Given the description of an element on the screen output the (x, y) to click on. 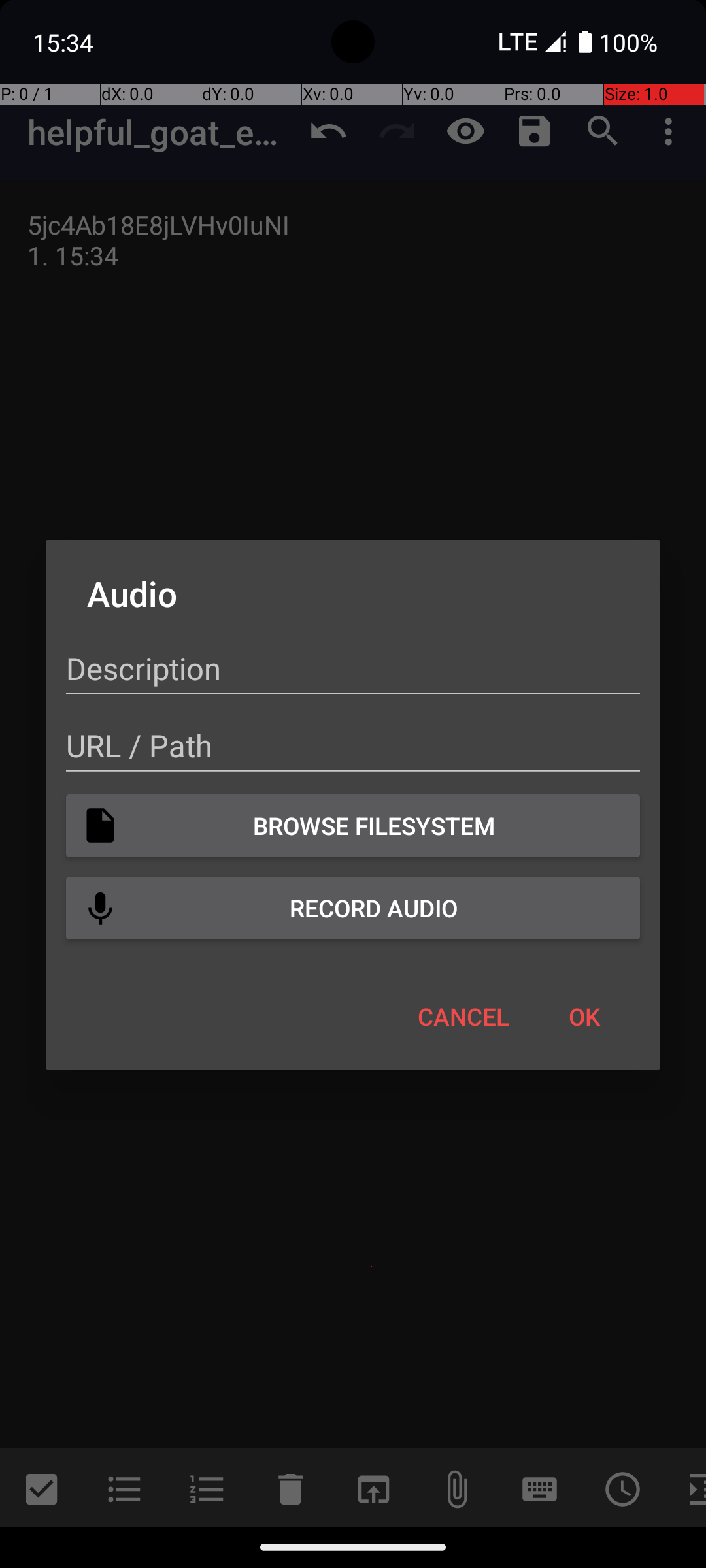
URL / Path Element type: android.widget.EditText (352, 745)
BROWSE FILESYSTEM Element type: android.widget.Button (352, 825)
RECORD AUDIO Element type: android.widget.Button (352, 907)
